Given the description of an element on the screen output the (x, y) to click on. 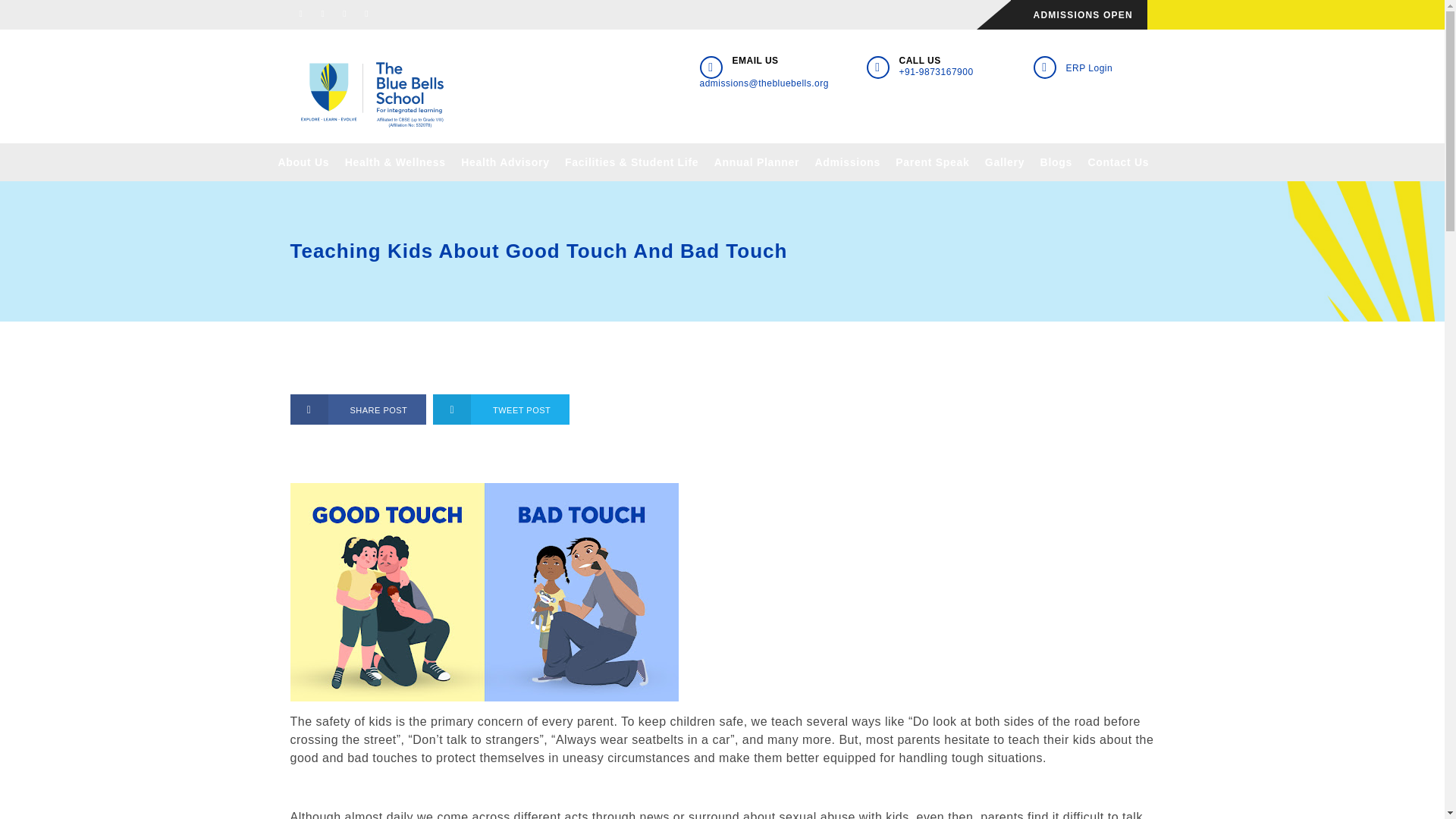
Health Advisory (505, 161)
Teaching Kids About Good Touch and Bad Touch (373, 93)
Annual Planner (756, 161)
ERP Login (1089, 68)
Contact Us (1117, 161)
Blogs (1055, 161)
Admissions (847, 161)
Blog 1 Preview Image (483, 592)
ADMISSIONS OPEN    (1087, 14)
Parent Speak (932, 161)
